Given the description of an element on the screen output the (x, y) to click on. 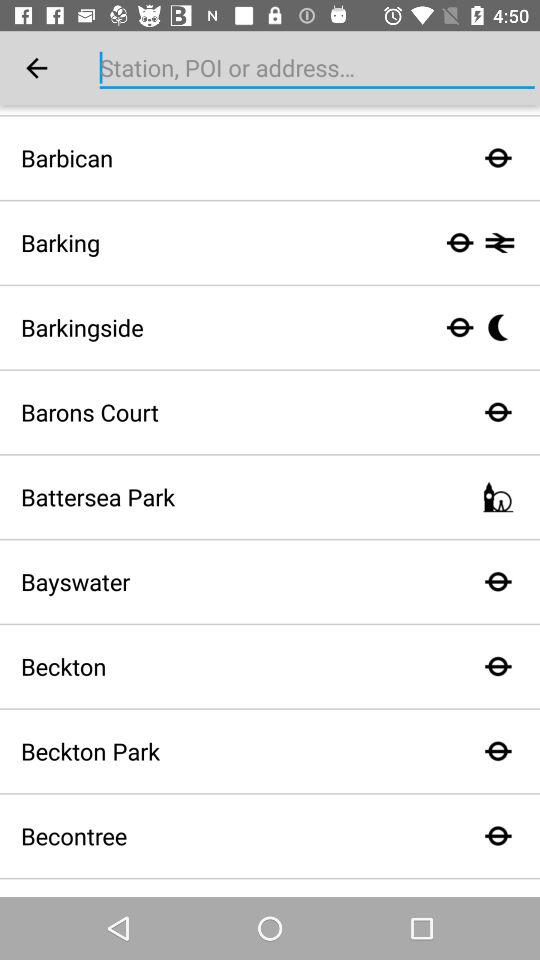
enter station (317, 67)
